Given the description of an element on the screen output the (x, y) to click on. 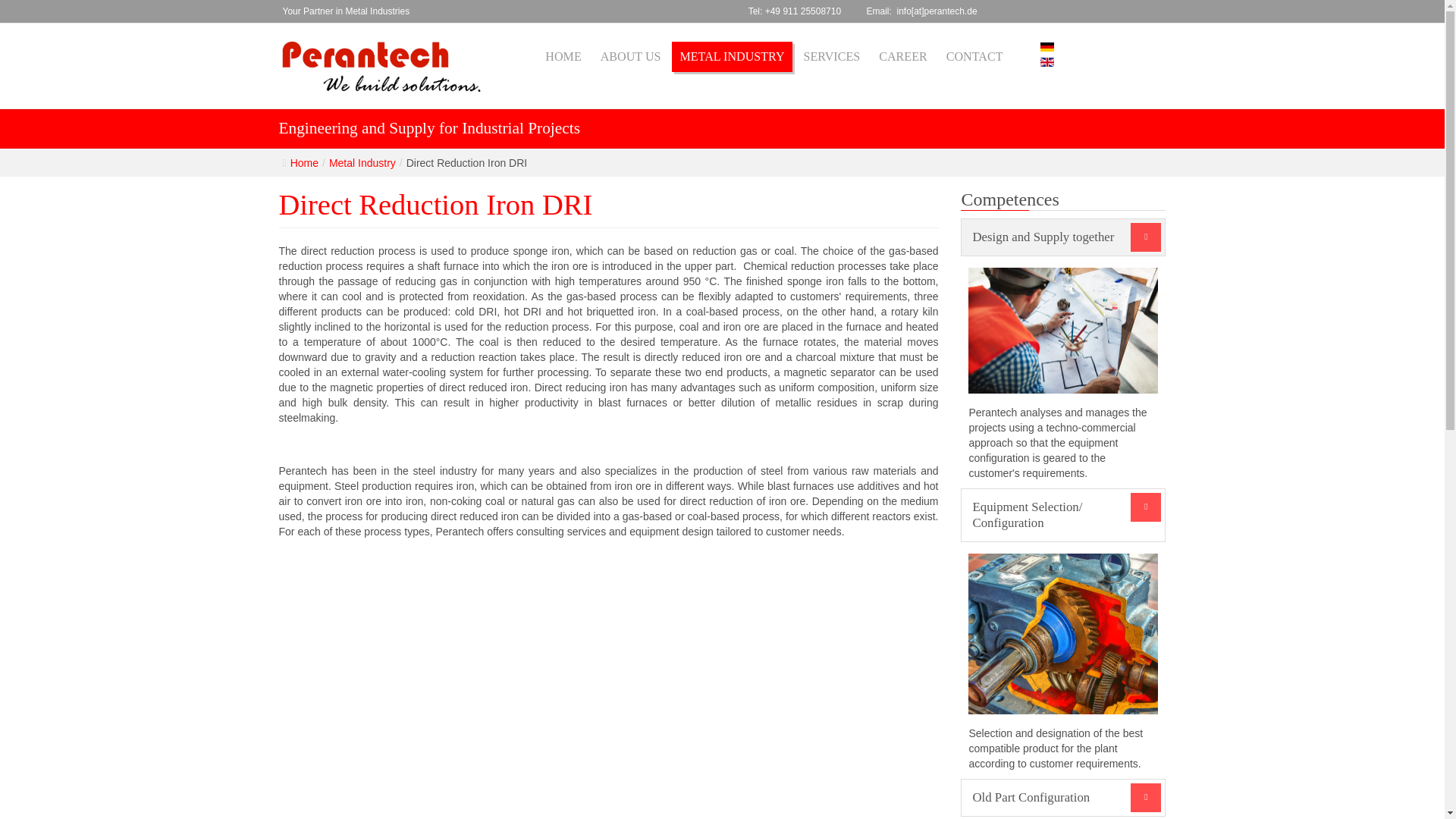
SERVICES (831, 56)
HOME (562, 56)
CONTACT (974, 56)
Metal Industry (362, 162)
CAREER (902, 56)
ABOUT US (630, 56)
METAL INDUSTRY (731, 56)
Direct Reduction Iron DRI (435, 204)
Home (303, 162)
